Given the description of an element on the screen output the (x, y) to click on. 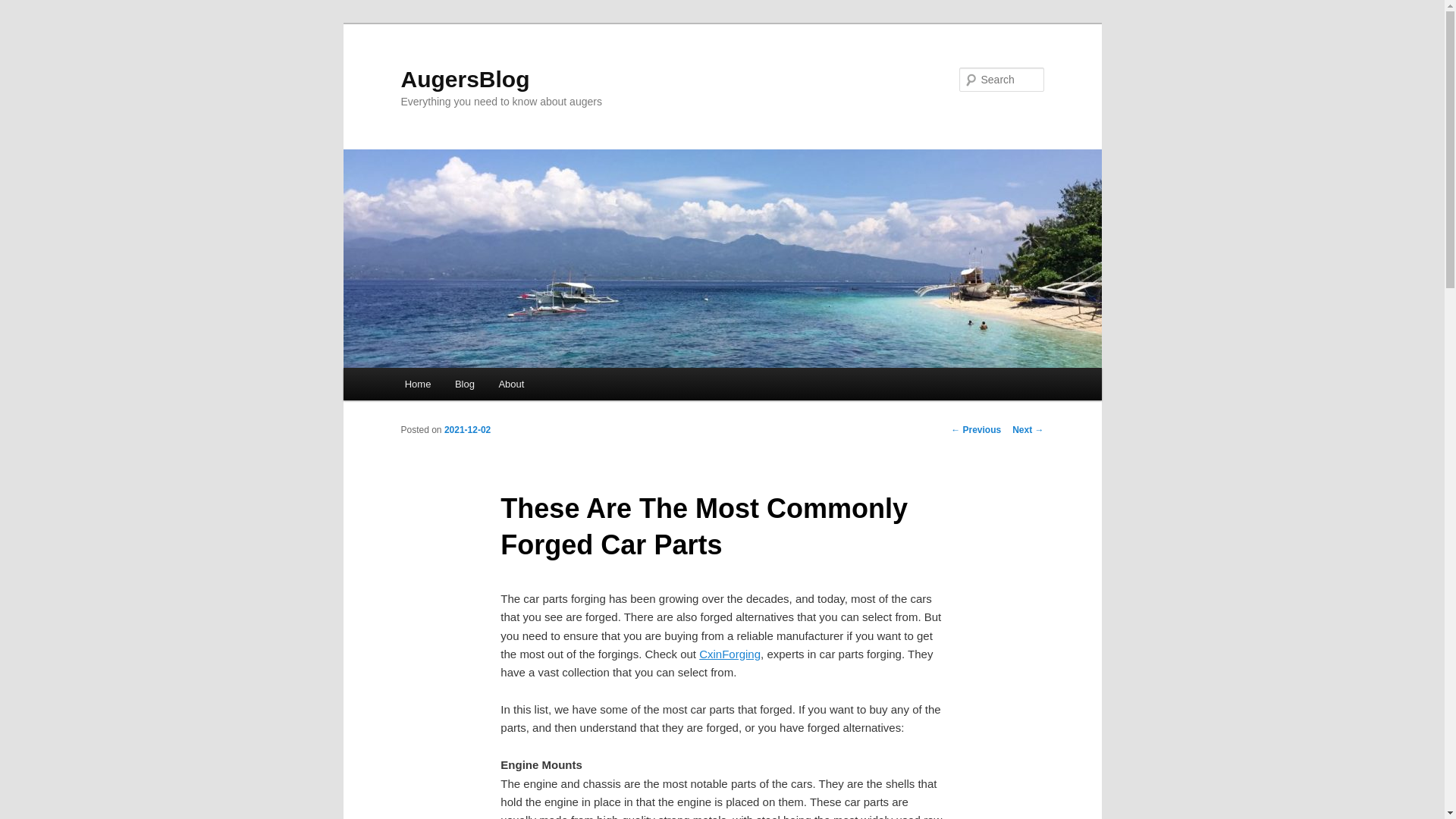
Search (24, 8)
AugersBlog (464, 78)
Home (417, 383)
Blog (464, 383)
CxinForging (729, 653)
pm12:26 (467, 429)
2021-12-02 (467, 429)
About (510, 383)
